Given the description of an element on the screen output the (x, y) to click on. 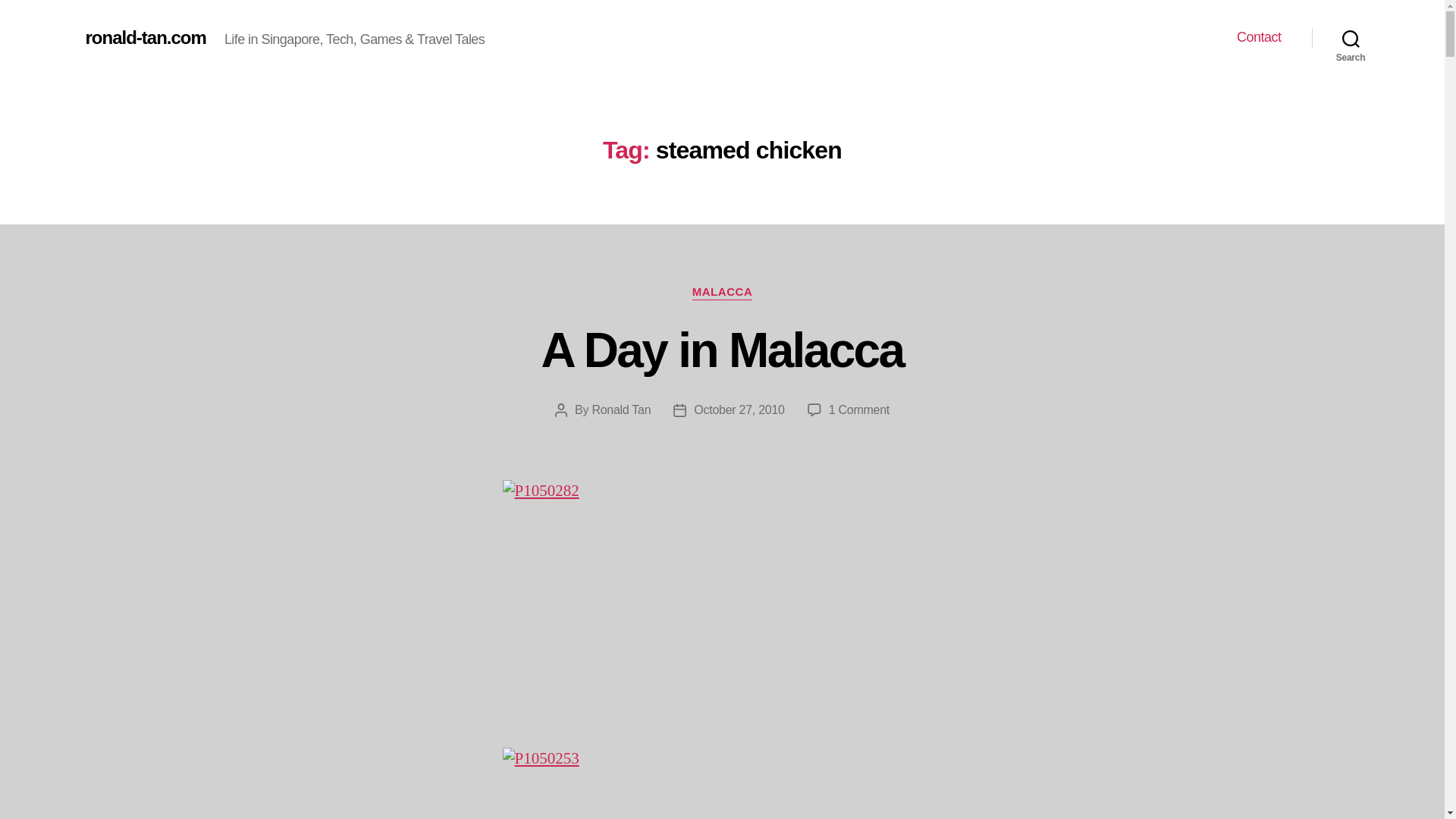
Contact (1258, 37)
P1050253 (722, 783)
P1050282 (722, 603)
A Day in Malacca (722, 349)
Search (1350, 37)
MALACCA (722, 292)
Ronald Tan (620, 409)
ronald-tan.com (144, 37)
October 27, 2010 (739, 409)
